Given the description of an element on the screen output the (x, y) to click on. 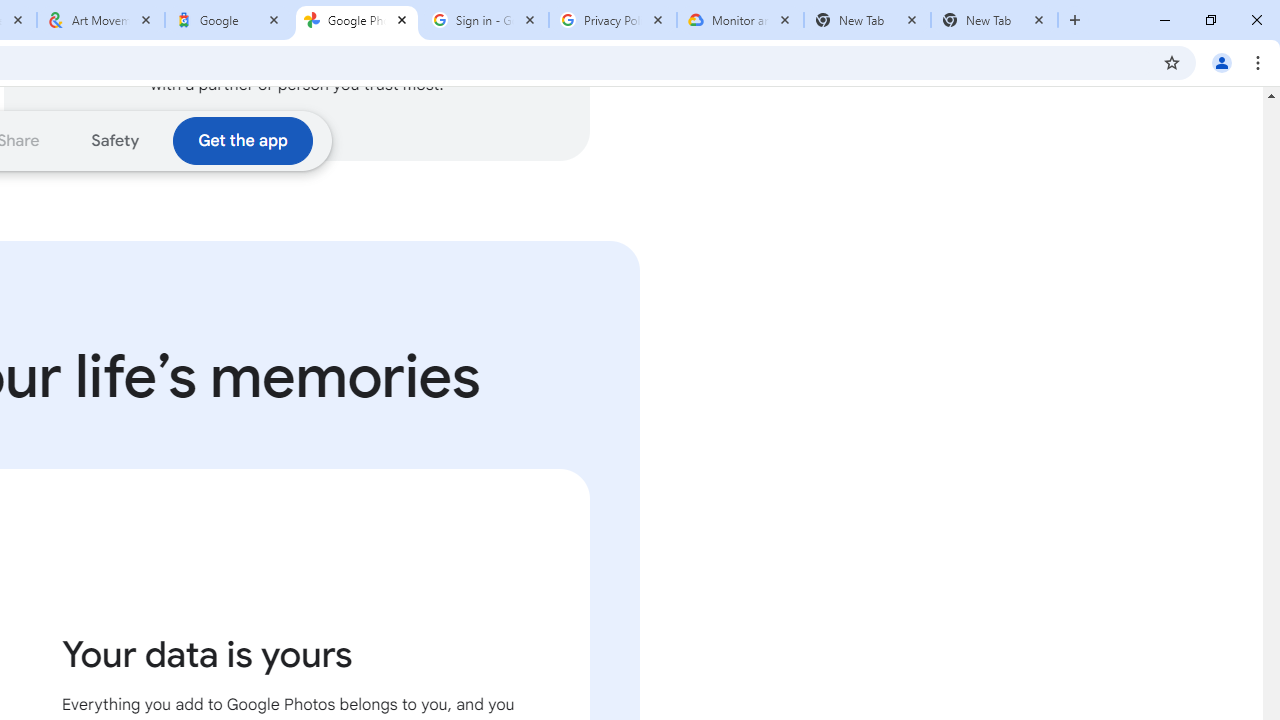
Download the Google Photos app (242, 140)
Sign in - Google Accounts (485, 20)
